Given the description of an element on the screen output the (x, y) to click on. 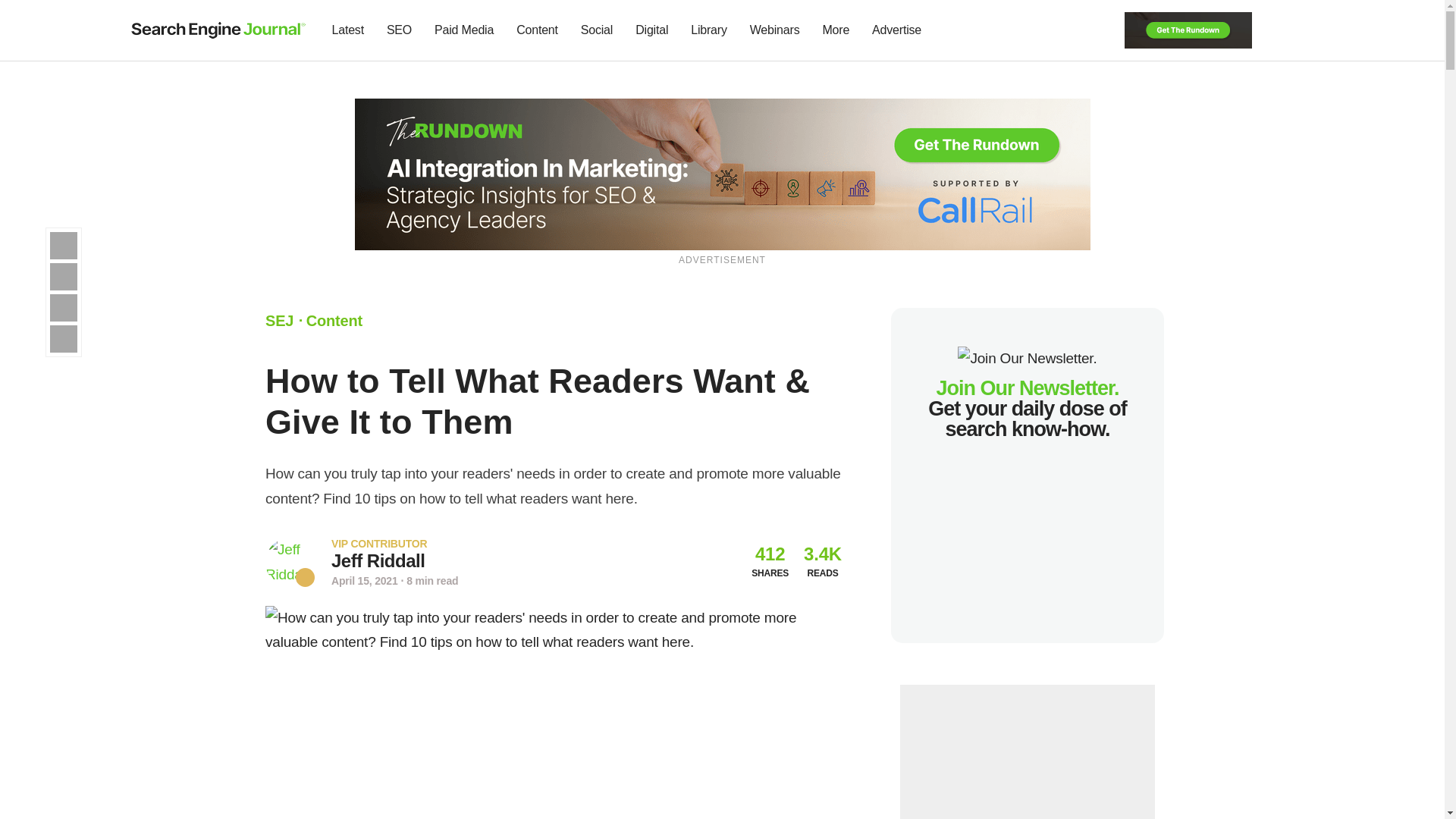
Latest (347, 30)
Paid Media (464, 30)
Go to Author Page (378, 560)
Get The Rundown (1187, 28)
Get The Rundown (722, 172)
Go to Author Page (289, 562)
Subscribe to our Newsletter (1277, 30)
